Given the description of an element on the screen output the (x, y) to click on. 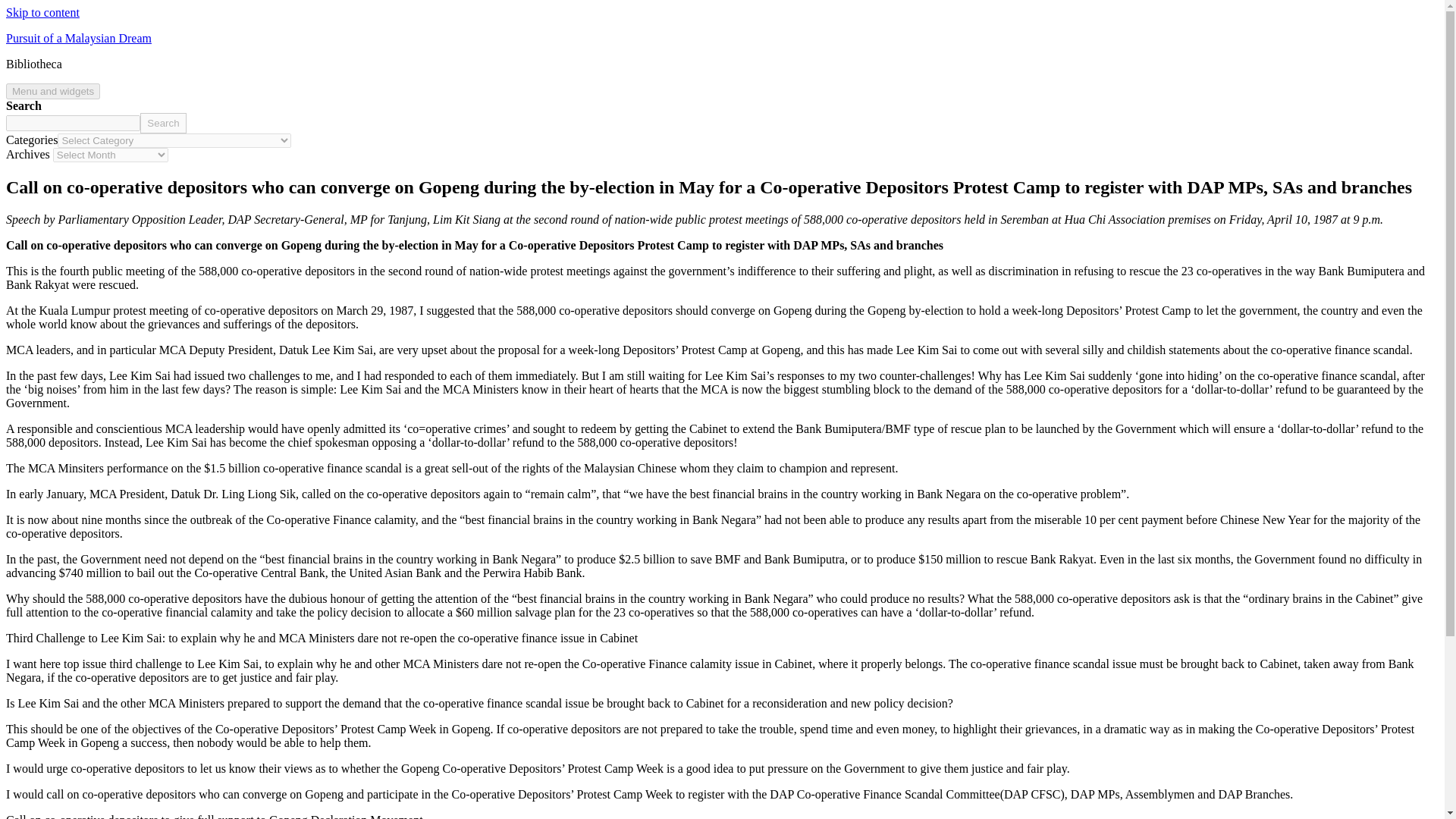
Menu and widgets (52, 91)
Pursuit of a Malaysian Dream (78, 38)
Search (162, 123)
Skip to content (42, 11)
